Given the description of an element on the screen output the (x, y) to click on. 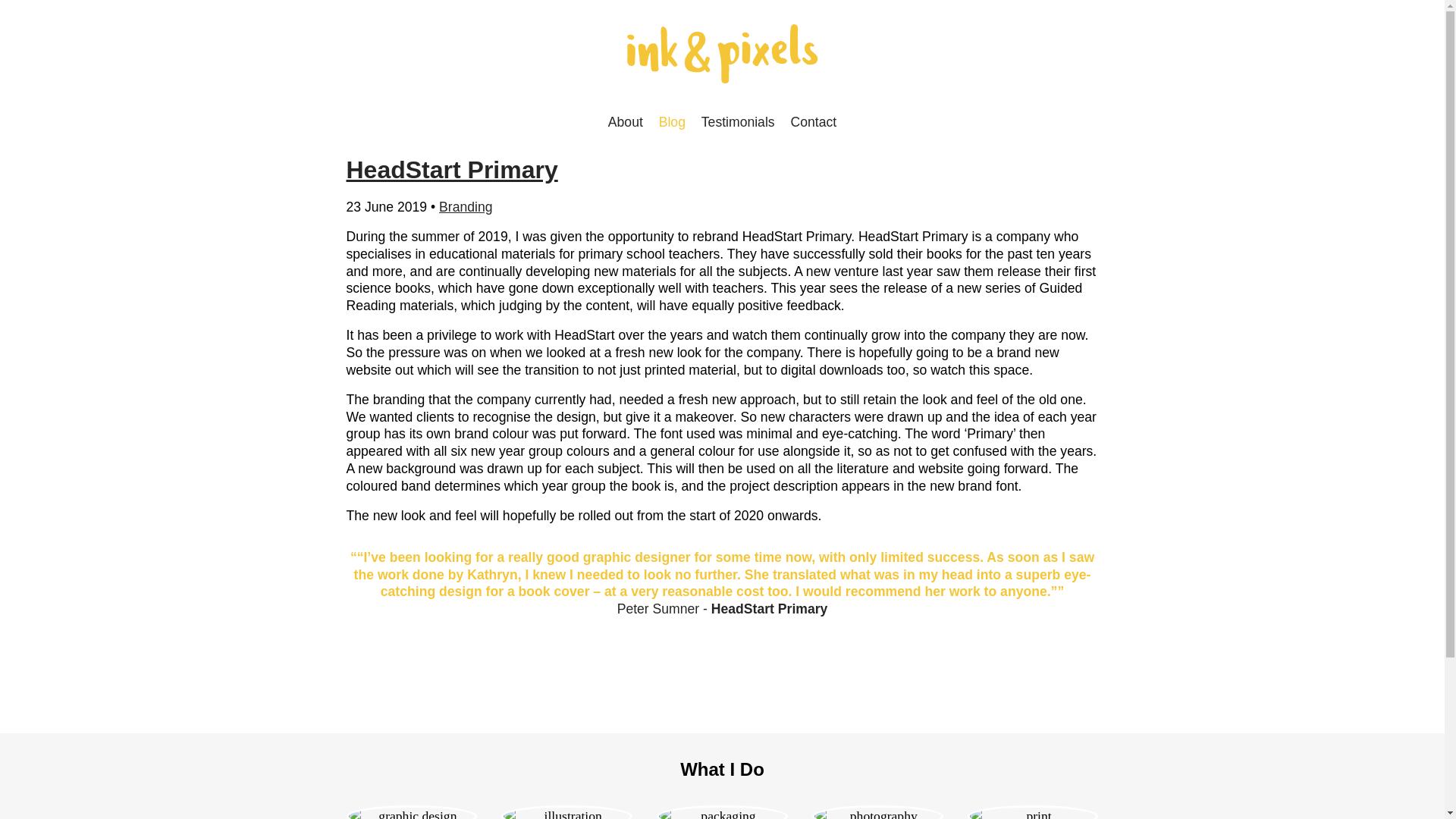
About (625, 120)
HeadStart Primary (451, 169)
Contact (813, 120)
Branding (465, 206)
Testimonials (737, 120)
Blog (672, 120)
